Given the description of an element on the screen output the (x, y) to click on. 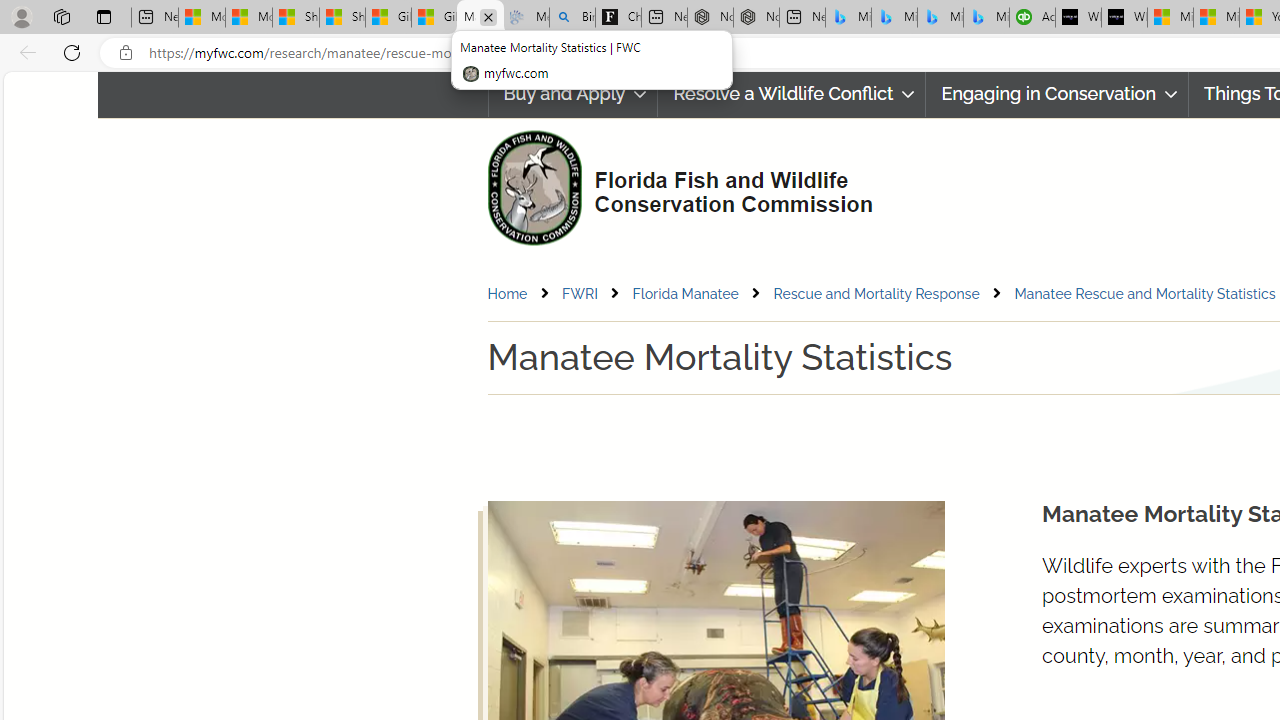
Close tab (488, 16)
Back (24, 52)
Microsoft Start (1216, 17)
FWC Logo (534, 187)
FWRI (579, 293)
Manatee Mortality Statistics | FWC (480, 17)
Florida Manatee (701, 293)
Workspaces (61, 16)
Resolve a Wildlife Conflict (791, 94)
Buy and Apply (572, 94)
Shanghai, China weather forecast | Microsoft Weather (342, 17)
Rescue and Mortality Response (876, 293)
